Given the description of an element on the screen output the (x, y) to click on. 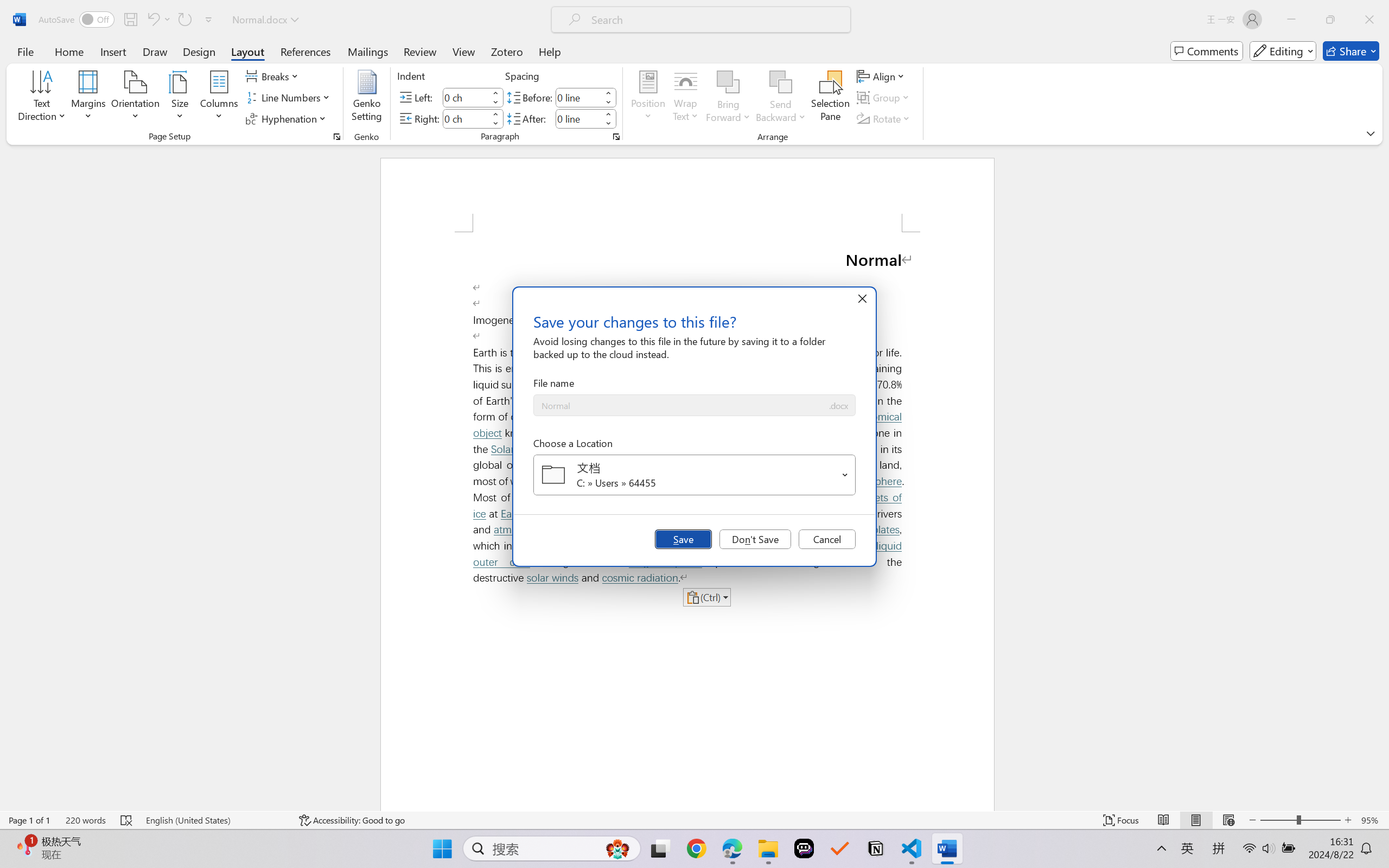
Margins (88, 97)
Text Direction (42, 97)
Size (180, 97)
Orientation (135, 97)
Paragraph... (615, 136)
Undo Paste Destination Formatting (158, 19)
Header -Section 1- (687, 194)
Class: NetUIScrollBar (1382, 477)
